Given the description of an element on the screen output the (x, y) to click on. 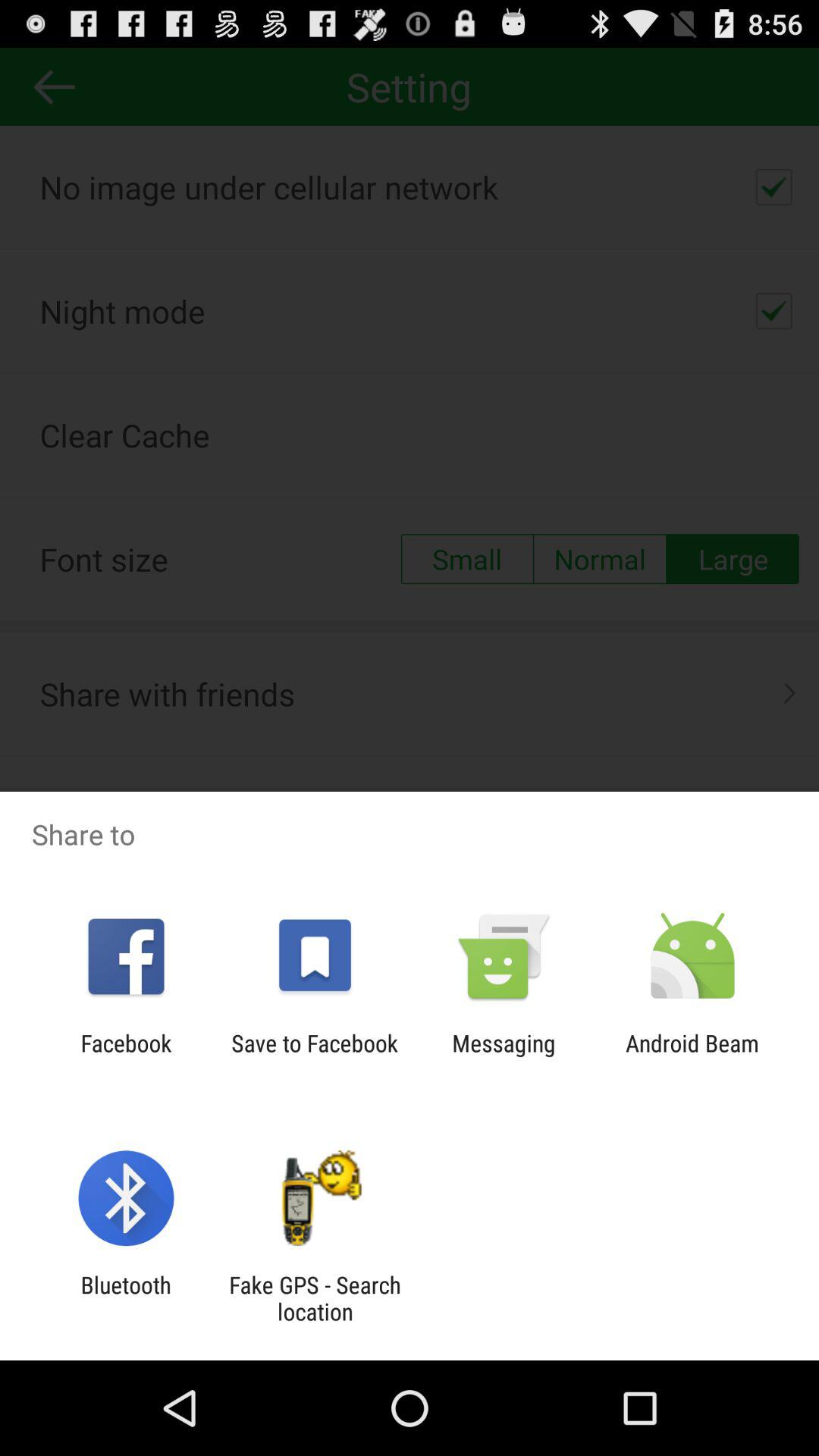
click app at the bottom right corner (692, 1056)
